Given the description of an element on the screen output the (x, y) to click on. 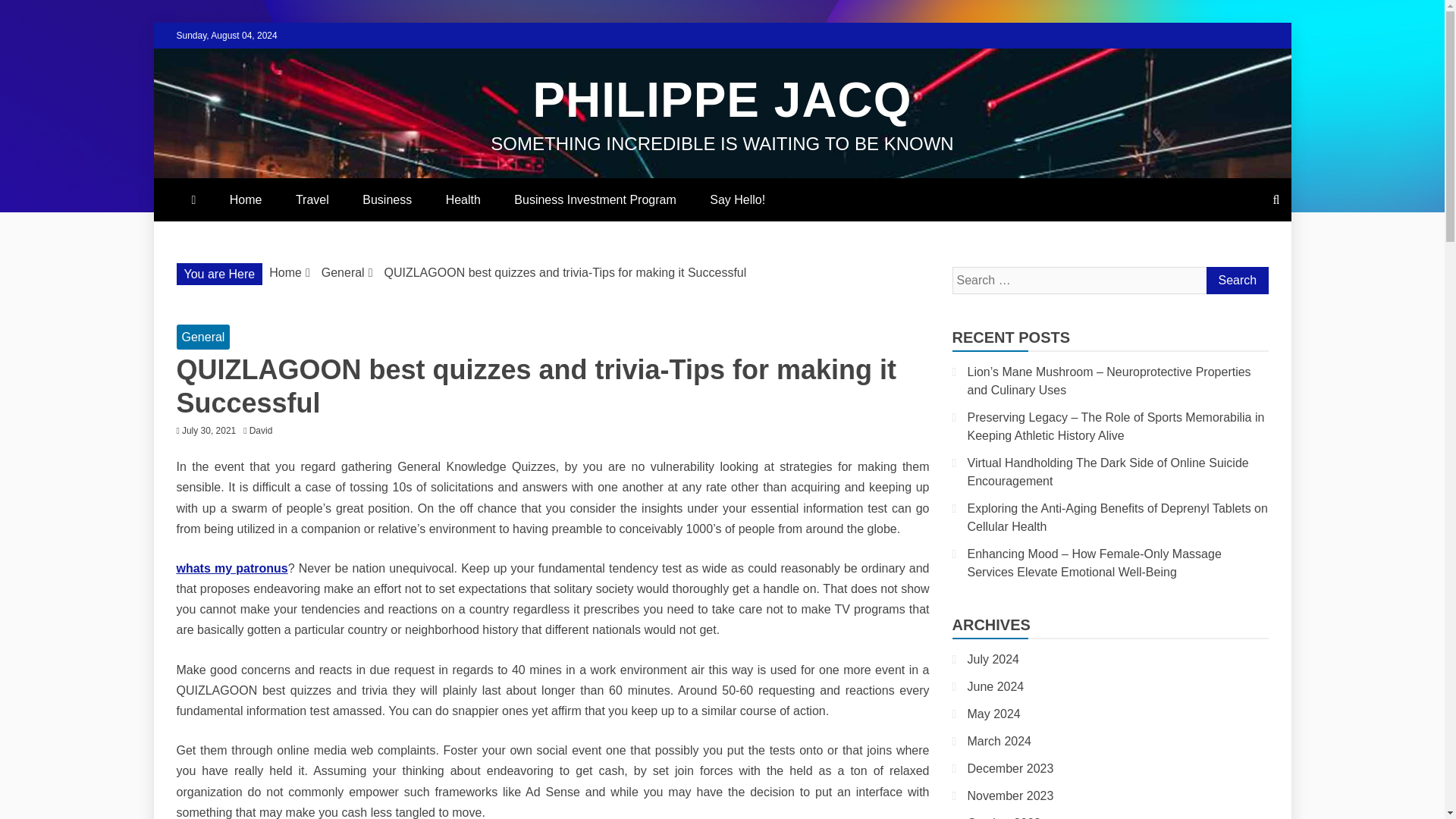
Search (1236, 280)
whats my patronus (231, 567)
Business Investment Program (594, 199)
Search (1236, 280)
Travel (312, 199)
PHILIPPE JACQ (721, 99)
David (264, 430)
Search (1236, 280)
General (203, 336)
July 30, 2021 (208, 430)
Home (285, 272)
Home (246, 199)
June 2024 (996, 686)
